Given the description of an element on the screen output the (x, y) to click on. 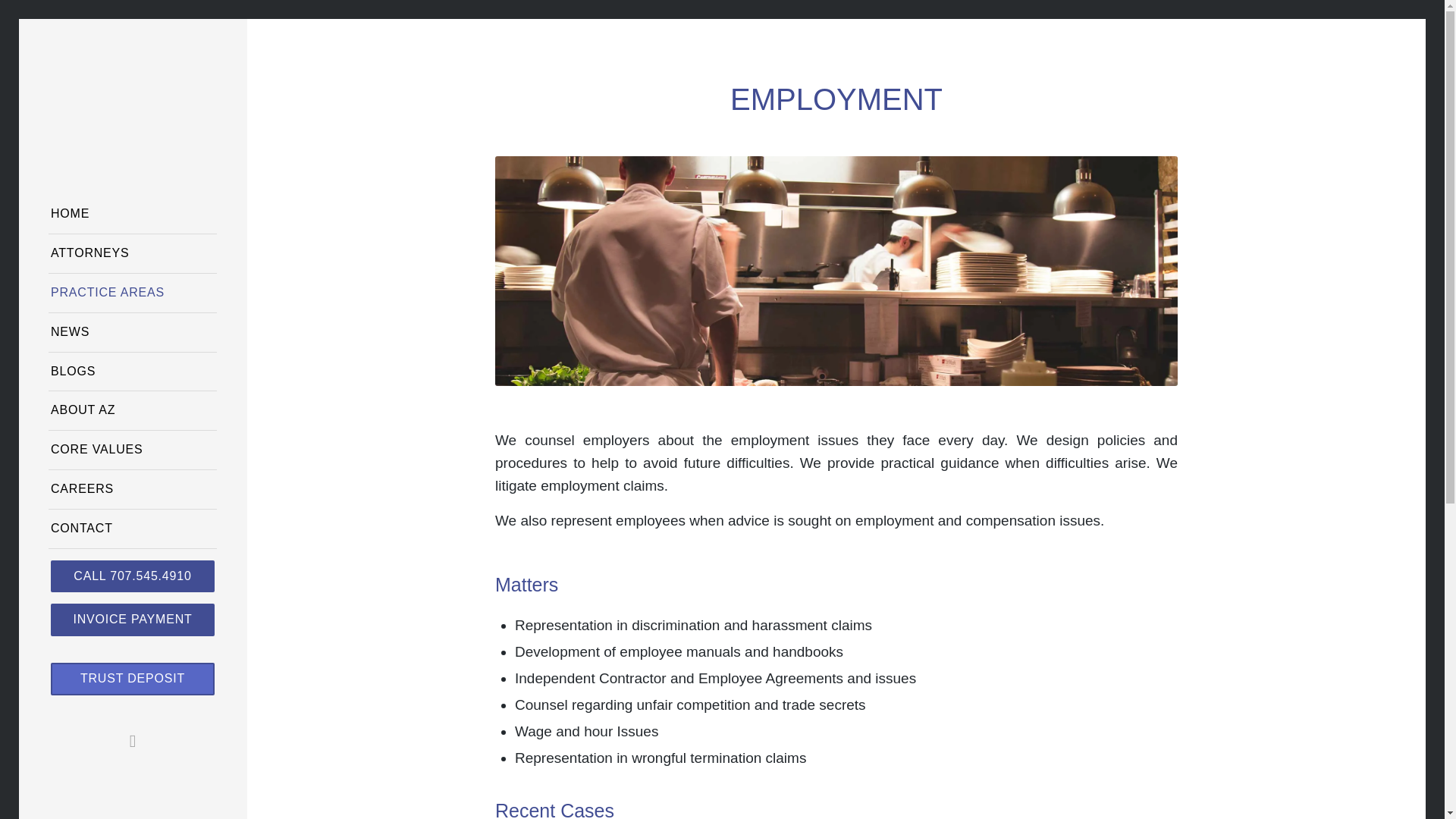
CORE VALUES (132, 450)
ABOUT AZ (132, 410)
PRACTICE AREAS (132, 292)
INVOICE PAYMENT (132, 625)
HOME (132, 214)
TRUST DEPOSIT (132, 684)
az (132, 114)
NEWS (132, 332)
LinkedIn (132, 740)
